Given the description of an element on the screen output the (x, y) to click on. 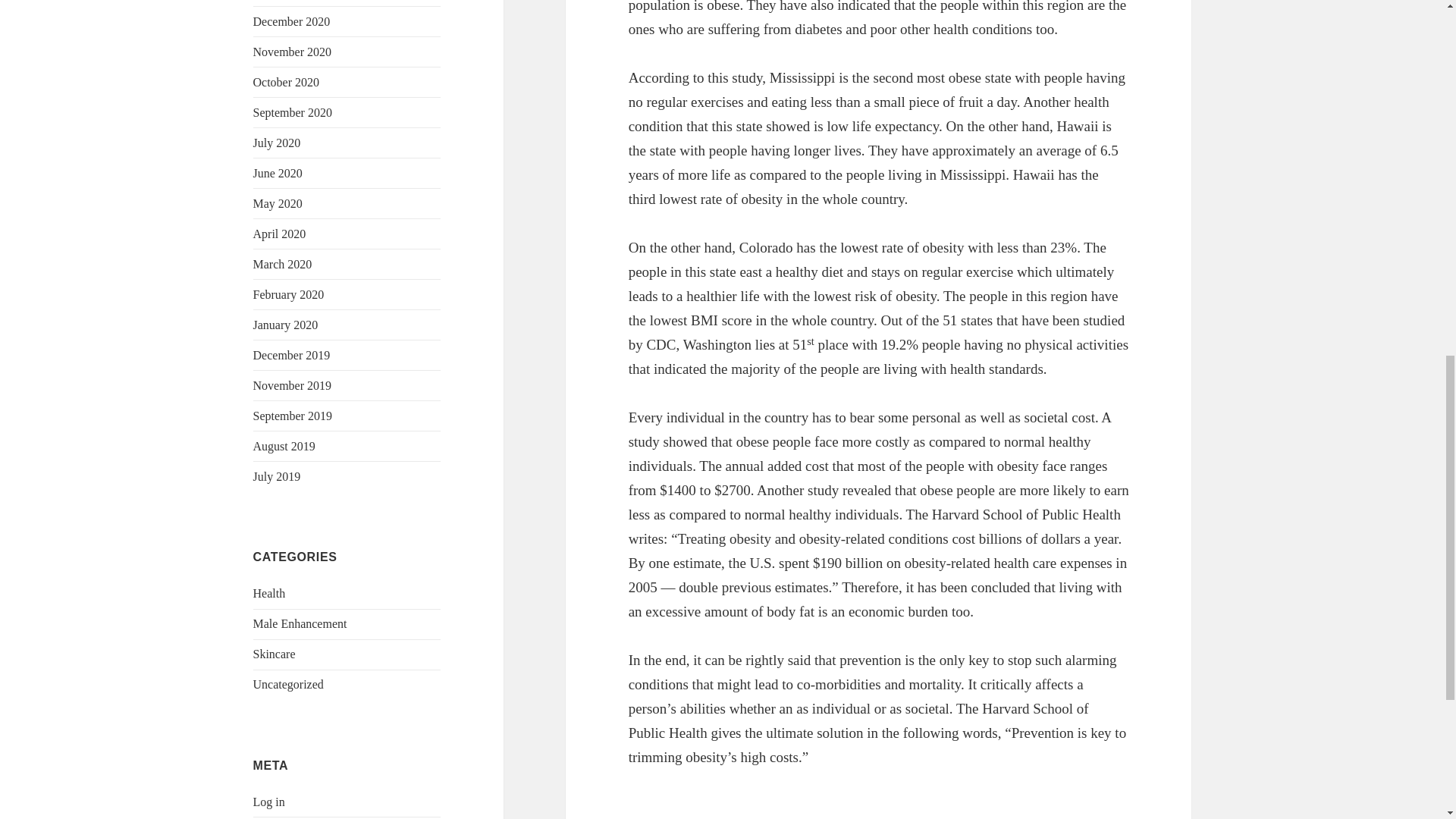
July 2020 (277, 142)
September 2019 (292, 415)
February 2020 (288, 294)
March 2020 (283, 264)
August 2019 (284, 445)
October 2020 (286, 82)
April 2020 (279, 233)
Log in (269, 801)
July 2019 (277, 476)
June 2020 (277, 173)
Male Enhancement (300, 623)
September 2020 (292, 112)
May 2020 (277, 203)
Health (269, 593)
Skincare (274, 653)
